Given the description of an element on the screen output the (x, y) to click on. 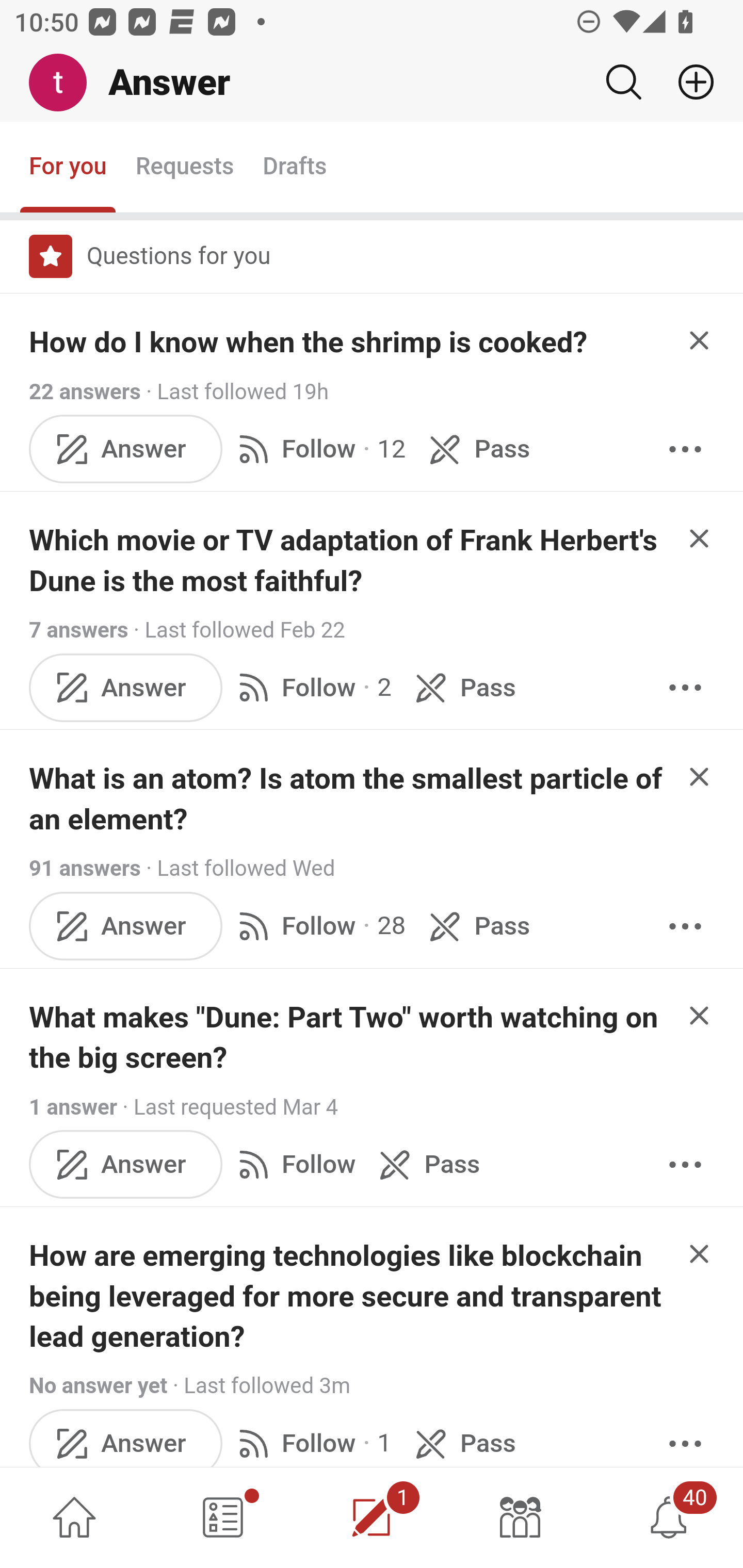
Me (64, 83)
Search (623, 82)
Add (688, 82)
For you (68, 167)
Requests (183, 167)
Drafts (295, 167)
Hide (699, 340)
How do I know when the shrimp is cooked? (308, 342)
22 answers 22  answers (84, 390)
Answer (125, 448)
Follow · 12 (317, 448)
Pass (476, 448)
More (684, 448)
Hide (699, 537)
7 answers 7  answers (79, 629)
Answer (125, 687)
Follow · 2 (311, 687)
Pass (461, 687)
More (684, 687)
Hide (699, 776)
91 answers 91  answers (84, 868)
Answer (125, 925)
Follow · 28 (317, 925)
Pass (476, 925)
More (684, 925)
Hide (699, 1015)
1 answer 1  answer (73, 1106)
Answer (125, 1163)
Follow (293, 1163)
Pass (425, 1163)
More (684, 1163)
Hide (699, 1253)
No answer yet (97, 1386)
Answer (125, 1438)
Follow · 1 (311, 1438)
Pass (461, 1438)
More (684, 1438)
40 (668, 1517)
